Given the description of an element on the screen output the (x, y) to click on. 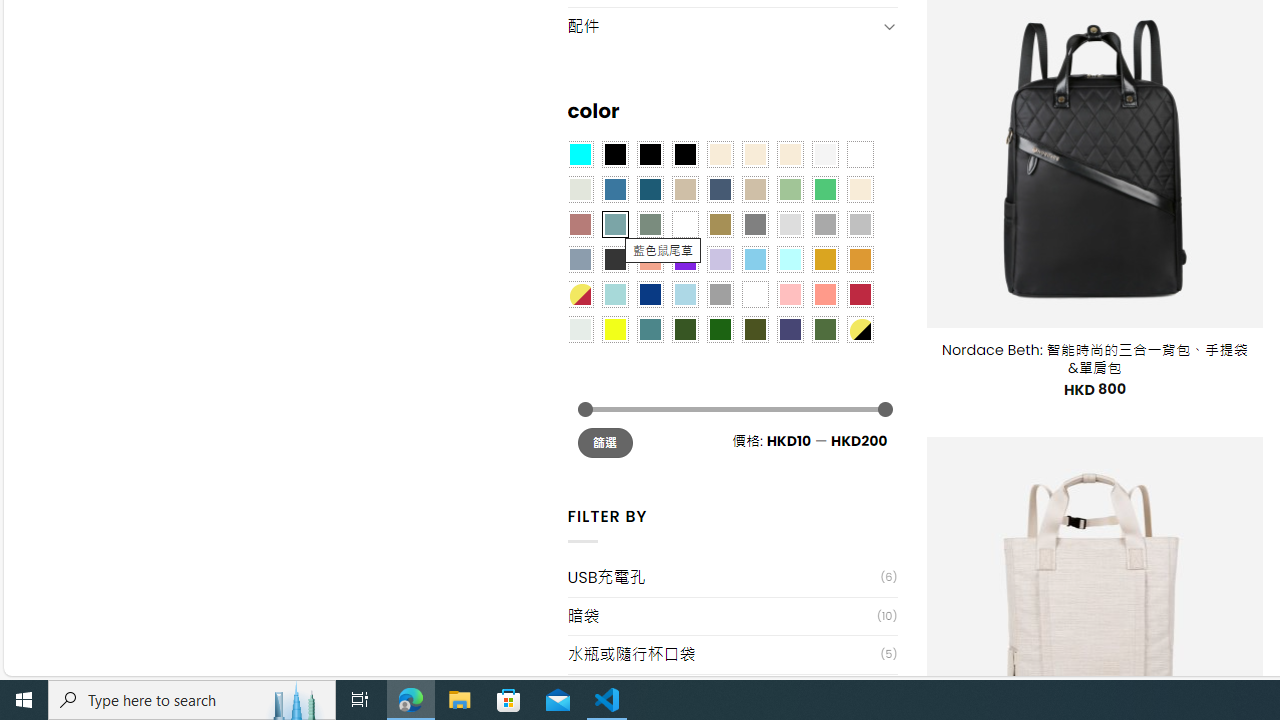
Dull Nickle (579, 329)
